Given the description of an element on the screen output the (x, y) to click on. 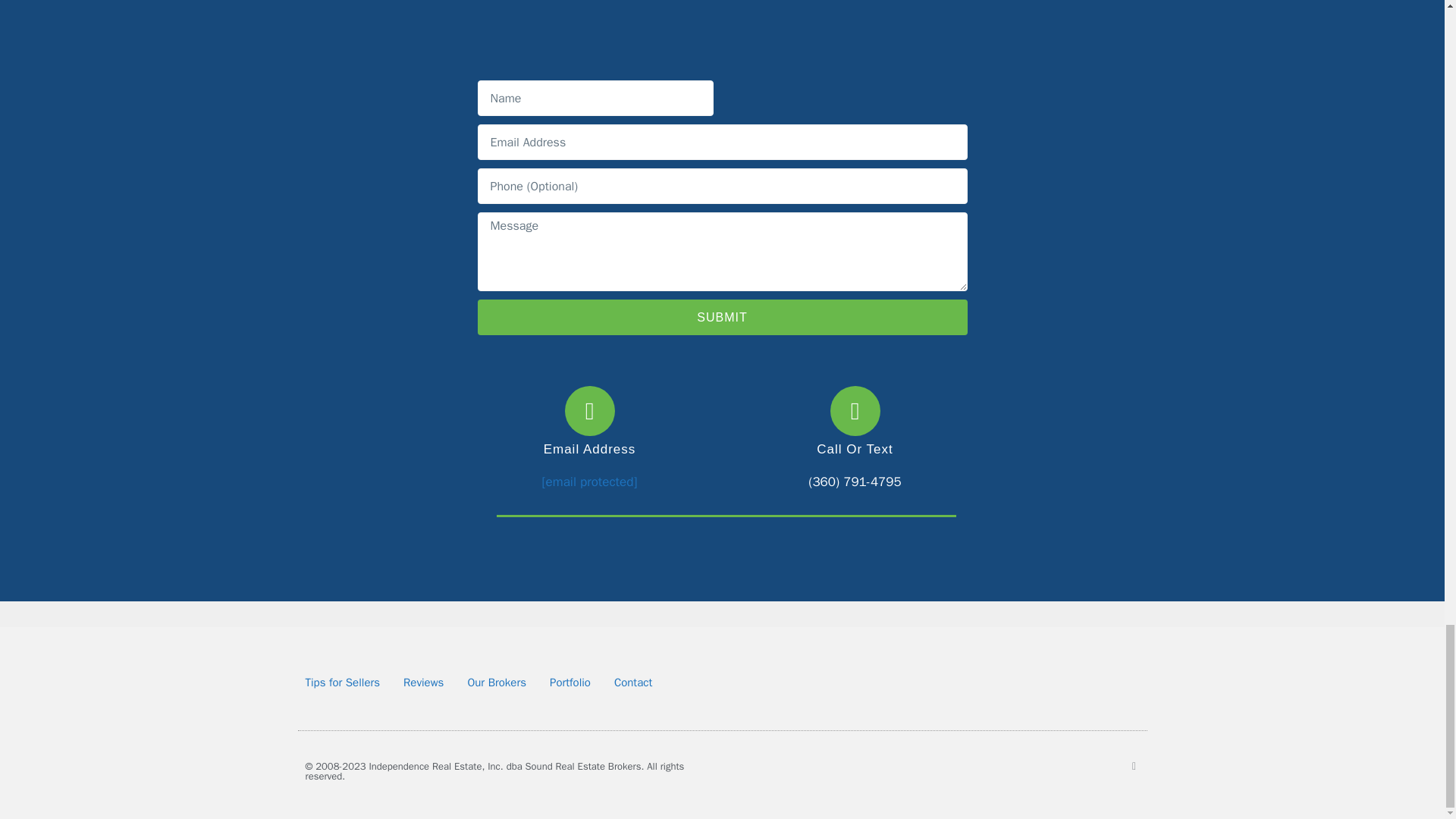
SUBMIT (722, 316)
Portfolio (570, 682)
Tips for Sellers (342, 682)
Contact (633, 682)
Reviews (423, 682)
Our Brokers (496, 682)
